Given the description of an element on the screen output the (x, y) to click on. 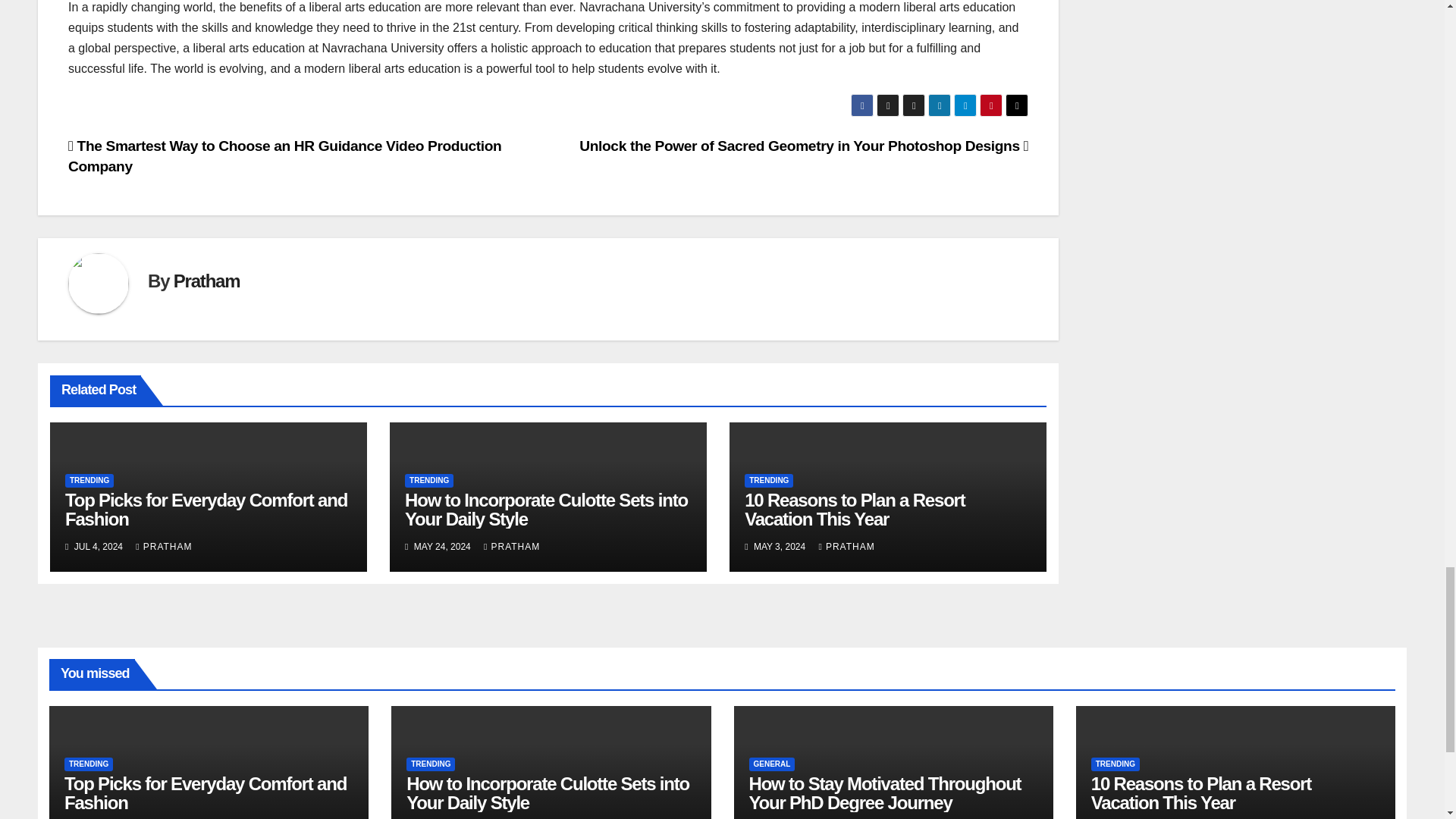
Pratham (206, 281)
Permalink to: Top Picks for Everyday Comfort and Fashion (205, 793)
Permalink to: 10 Reasons to Plan a Resort Vacation This Year (1200, 793)
Permalink to: 10 Reasons to Plan a Resort Vacation This Year (853, 509)
TRENDING (428, 480)
PRATHAM (163, 546)
